Given the description of an element on the screen output the (x, y) to click on. 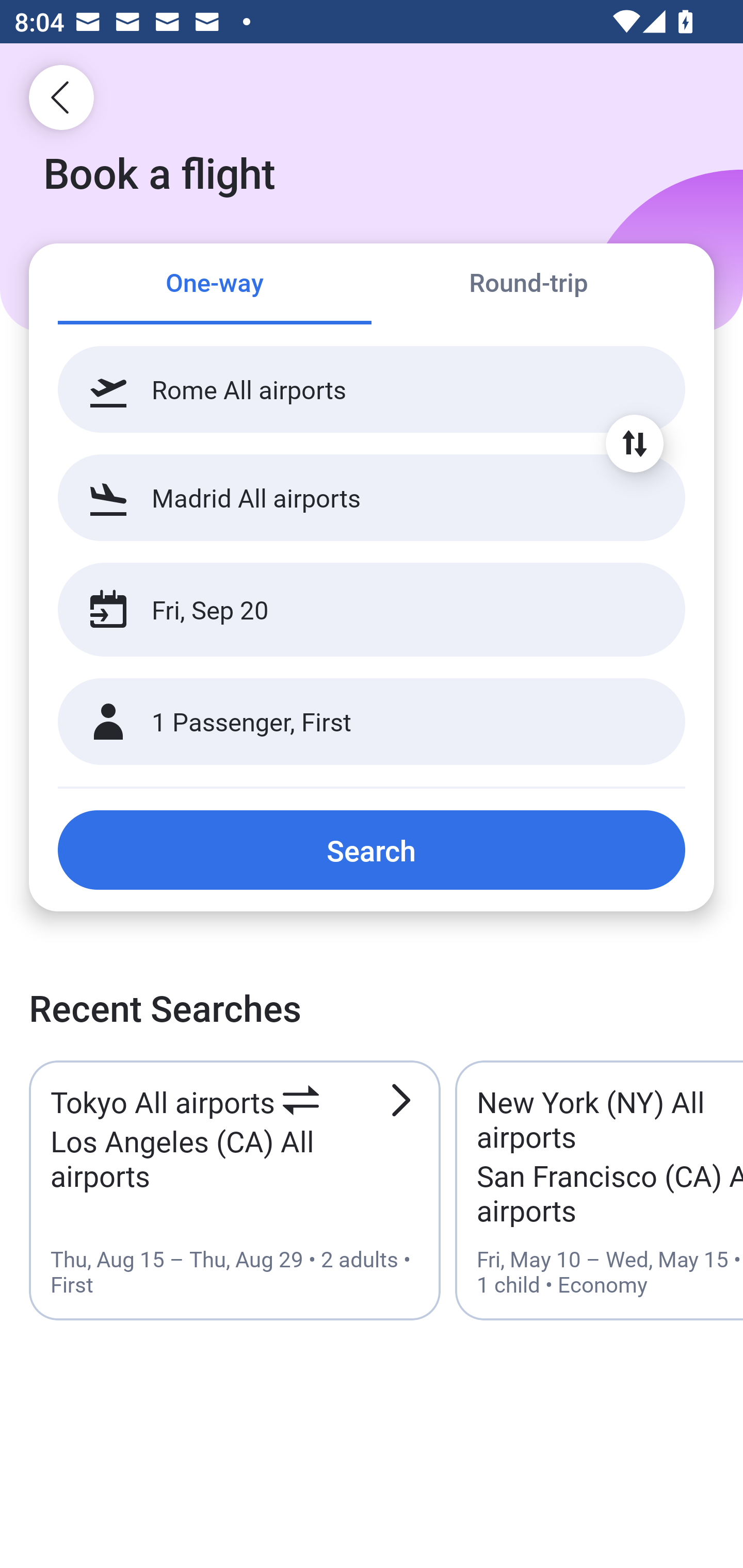
Round-trip (528, 284)
Rome All airports (371, 389)
Madrid All airports (371, 497)
Fri, Sep 20 (349, 609)
1 Passenger, First (371, 721)
Search (371, 849)
